Given the description of an element on the screen output the (x, y) to click on. 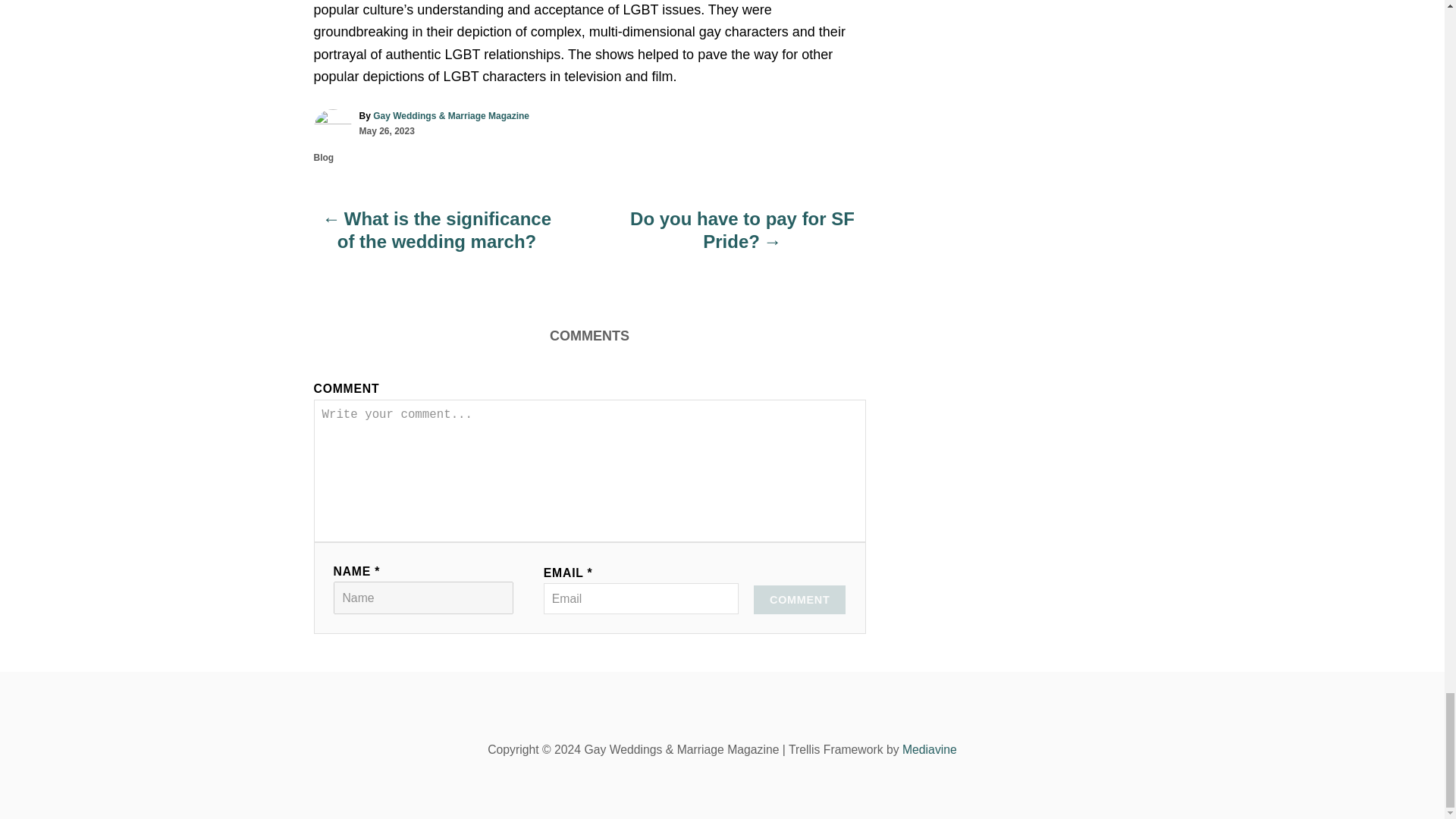
COMMENT (799, 599)
Mediavine (929, 748)
Blog (324, 157)
What is the significance of the wedding march? (437, 238)
Do you have to pay for SF Pride? (741, 238)
